Given the description of an element on the screen output the (x, y) to click on. 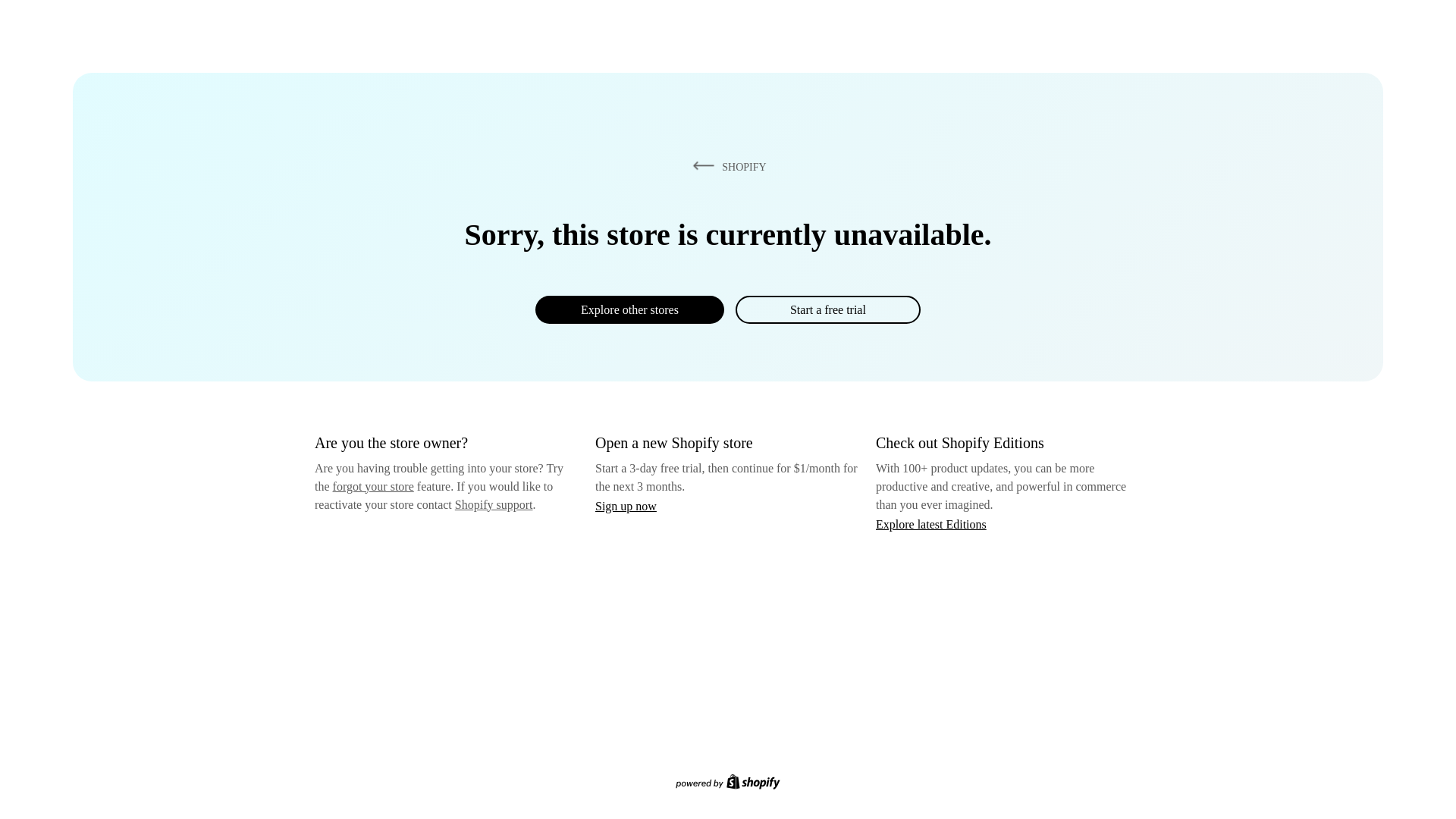
Shopify support (493, 504)
SHOPIFY (726, 166)
Sign up now (625, 505)
Explore other stores (629, 309)
Start a free trial (827, 309)
Explore latest Editions (931, 523)
forgot your store (373, 486)
